Given the description of an element on the screen output the (x, y) to click on. 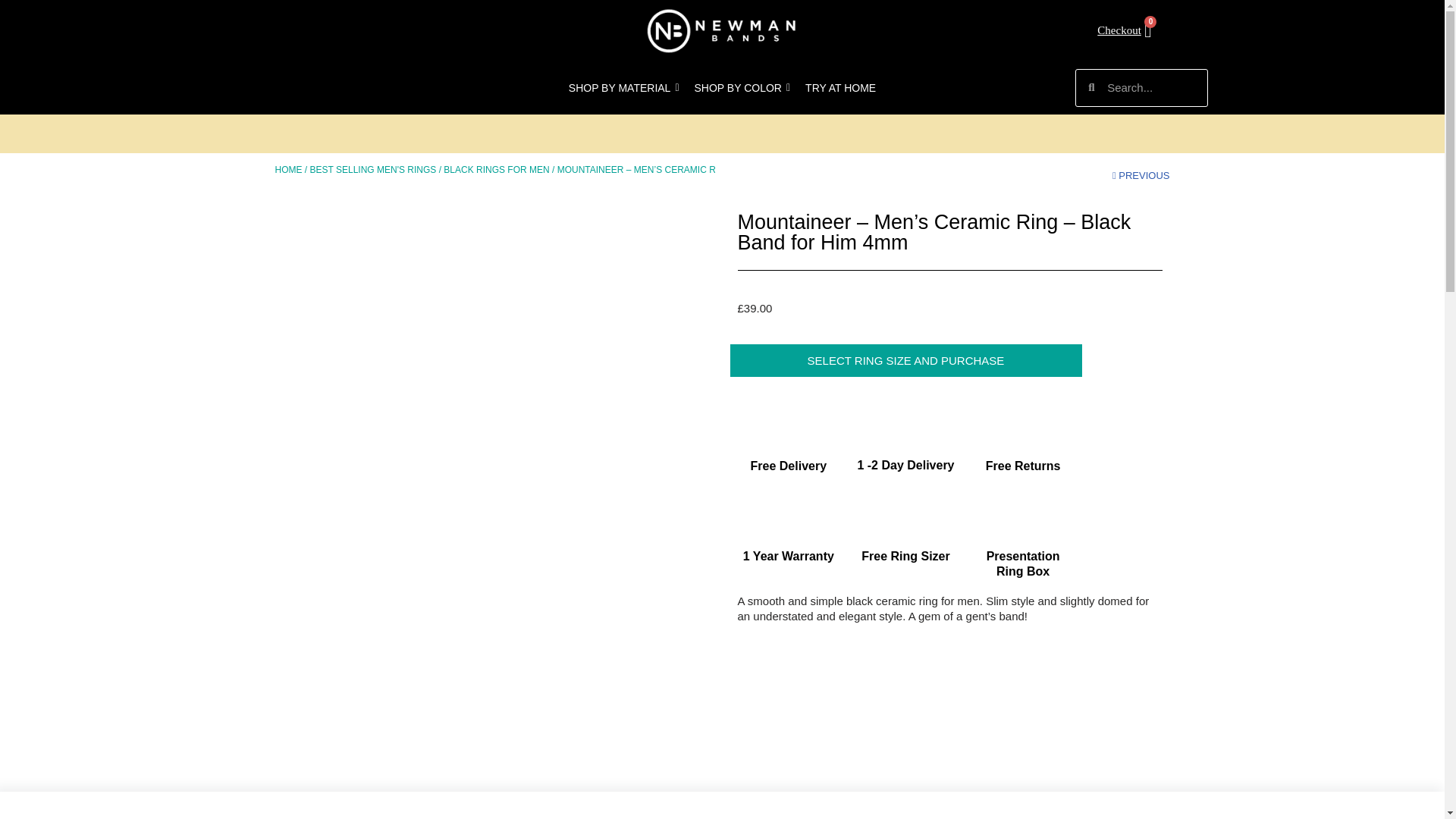
SHOP BY MATERIAL (623, 87)
SHOP BY COLOR (742, 87)
Skip to content (11, 31)
0 (1123, 30)
